Given the description of an element on the screen output the (x, y) to click on. 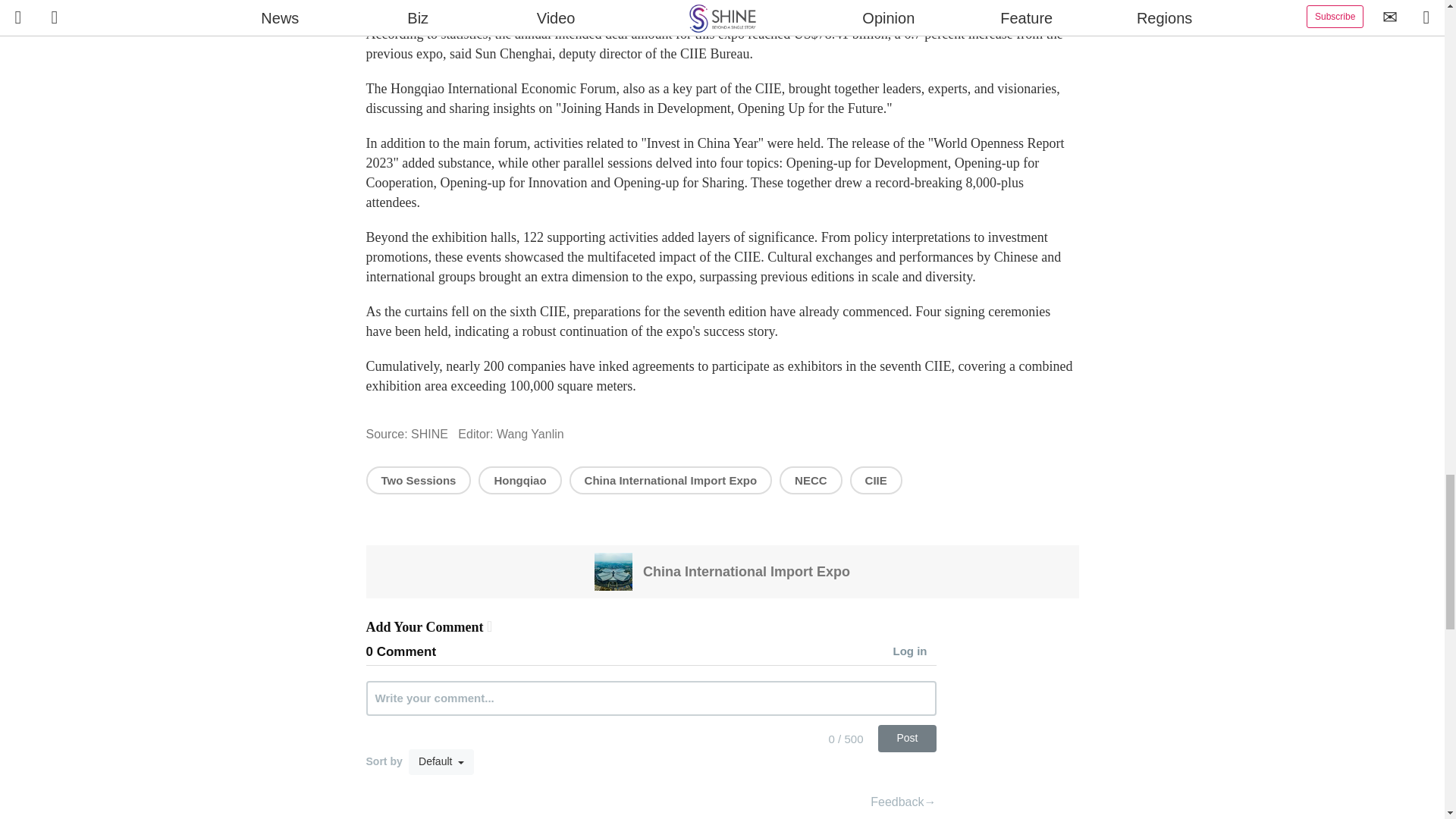
China International Import Expo (722, 571)
NECC (810, 480)
Default   (441, 761)
Two Sessions (417, 480)
Log in (914, 652)
Hongqiao (519, 480)
China International Import Expo (671, 480)
CIIE (876, 480)
